Given the description of an element on the screen output the (x, y) to click on. 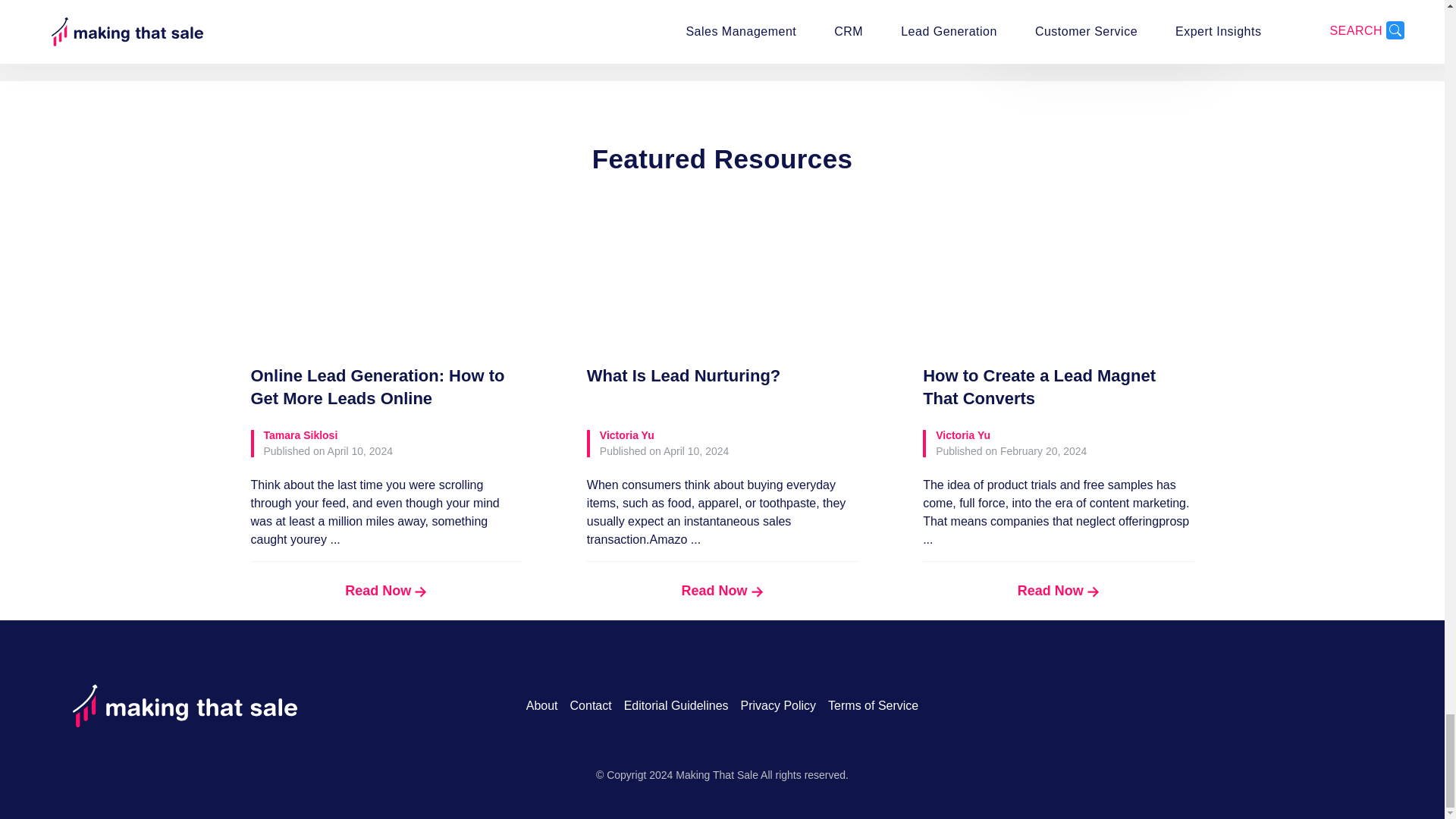
Privacy Policy (778, 705)
Editorial Guidelines (676, 705)
Contact (590, 705)
Terms of Service (873, 705)
About (541, 705)
